Given the description of an element on the screen output the (x, y) to click on. 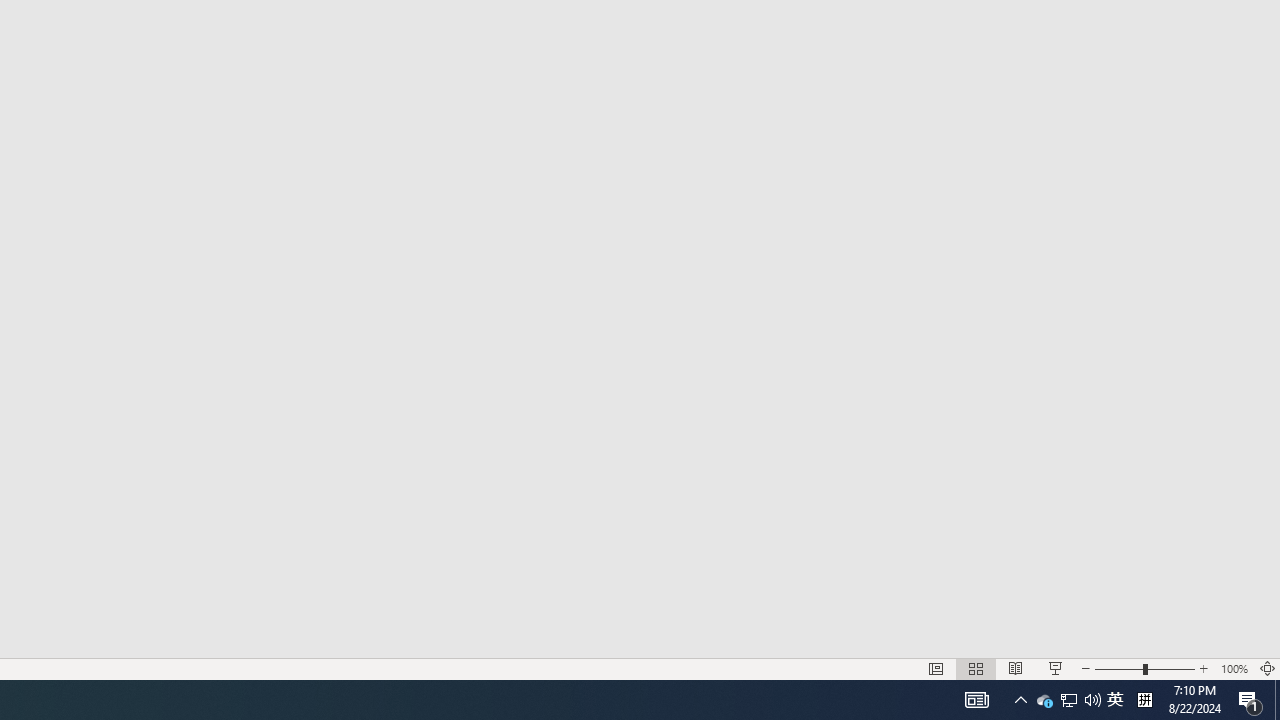
Zoom 100% (1234, 668)
